Given the description of an element on the screen output the (x, y) to click on. 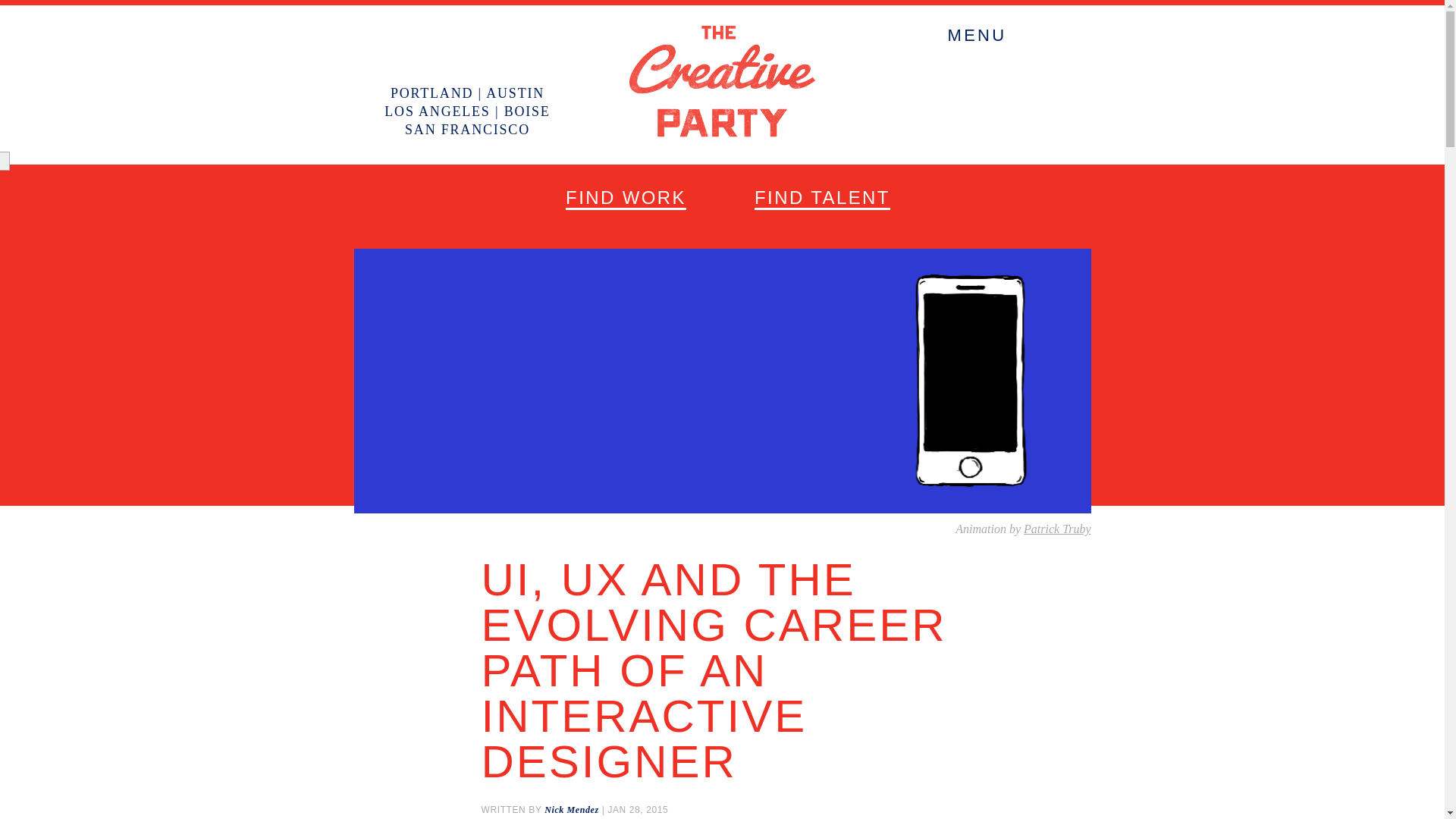
FIND WORK (625, 198)
PORTLAND (431, 92)
MENU (977, 39)
LOS ANGELES (436, 111)
FIND TALENT (821, 198)
Nick Mendez (571, 809)
SAN FRANCISCO (466, 129)
Patrick Truby (1056, 528)
BOISE (526, 111)
AUSTIN (515, 92)
The Creative Party homepage (721, 132)
